Given the description of an element on the screen output the (x, y) to click on. 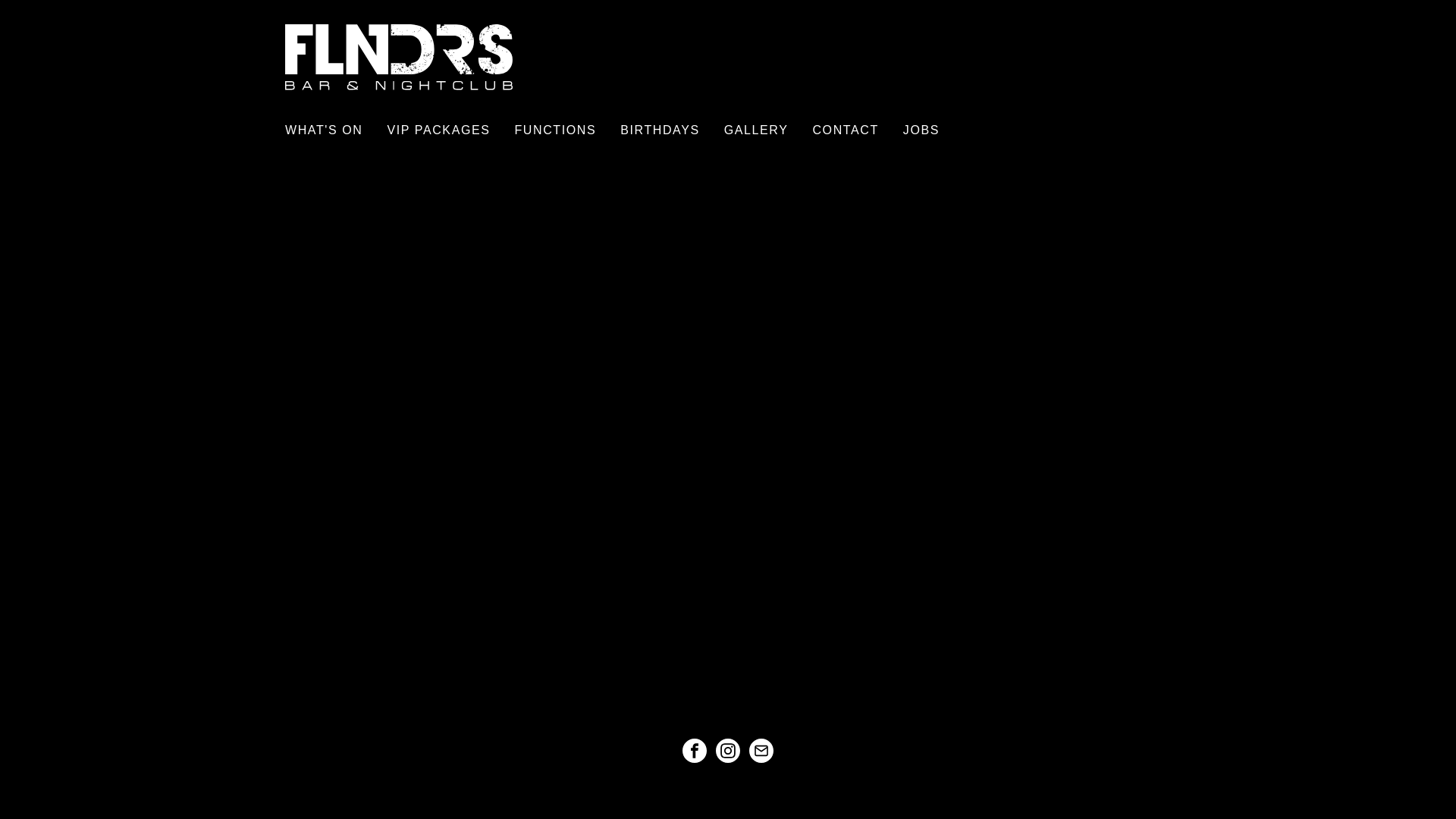
BIRTHDAYS Element type: text (660, 130)
VIP PACKAGES Element type: text (438, 130)
WHAT'S ON Element type: text (330, 130)
GALLERY Element type: text (756, 130)
JOBS Element type: text (915, 130)
FUNCTIONS Element type: text (555, 130)
CONTACT Element type: text (845, 130)
